Given the description of an element on the screen output the (x, y) to click on. 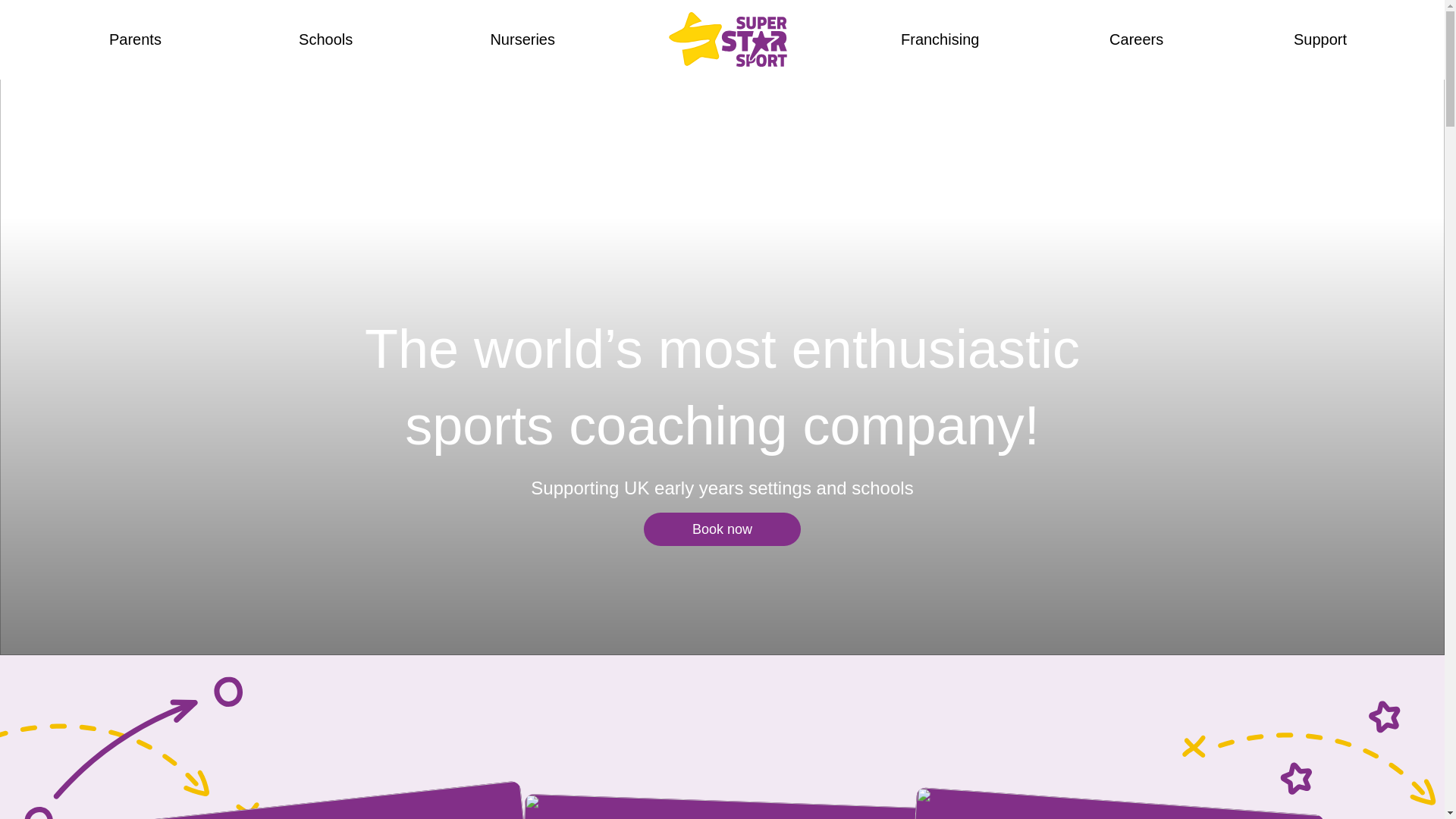
Book now (721, 529)
Parents (728, 39)
Nursery page 2 (317, 799)
Primary School page 1-min (1092, 803)
Schools (715, 806)
Schools page-parents page-min (715, 806)
Franchising (317, 799)
main (939, 39)
